Given the description of an element on the screen output the (x, y) to click on. 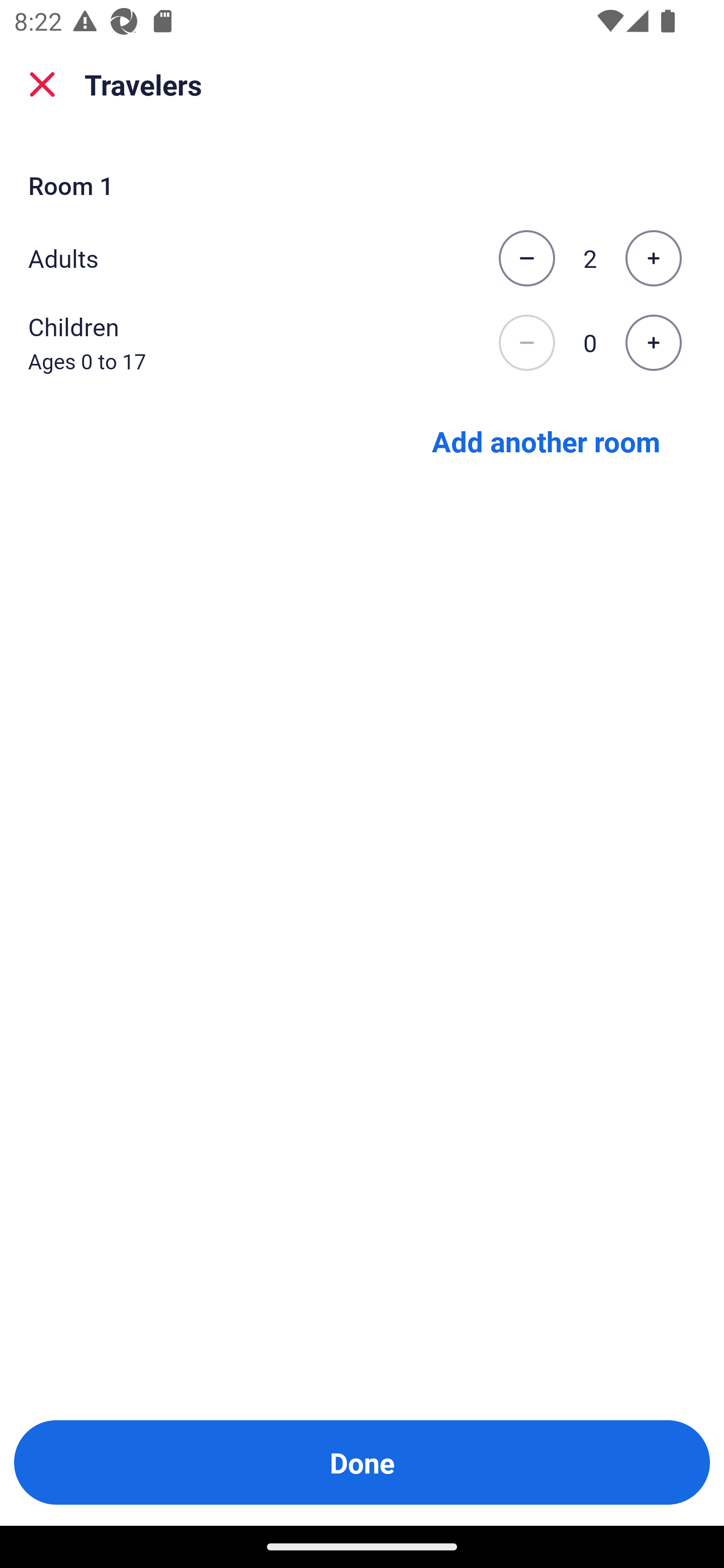
close (42, 84)
Decrease the number of adults (526, 258)
Increase the number of adults (653, 258)
Decrease the number of children (526, 343)
Increase the number of children (653, 343)
Add another room (545, 440)
Done (361, 1462)
